Given the description of an element on the screen output the (x, y) to click on. 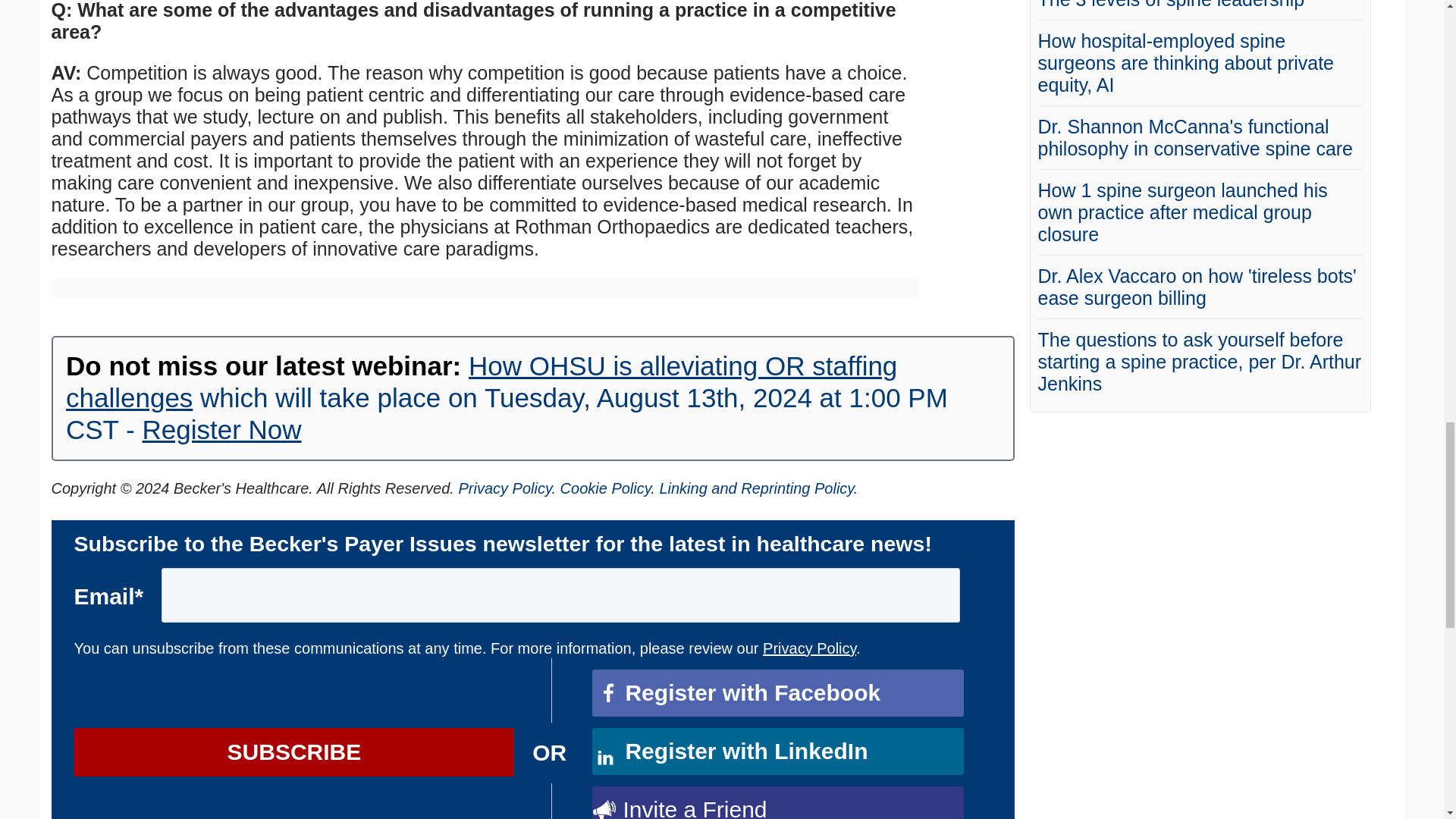
SUBSCRIBE (294, 752)
